Given the description of an element on the screen output the (x, y) to click on. 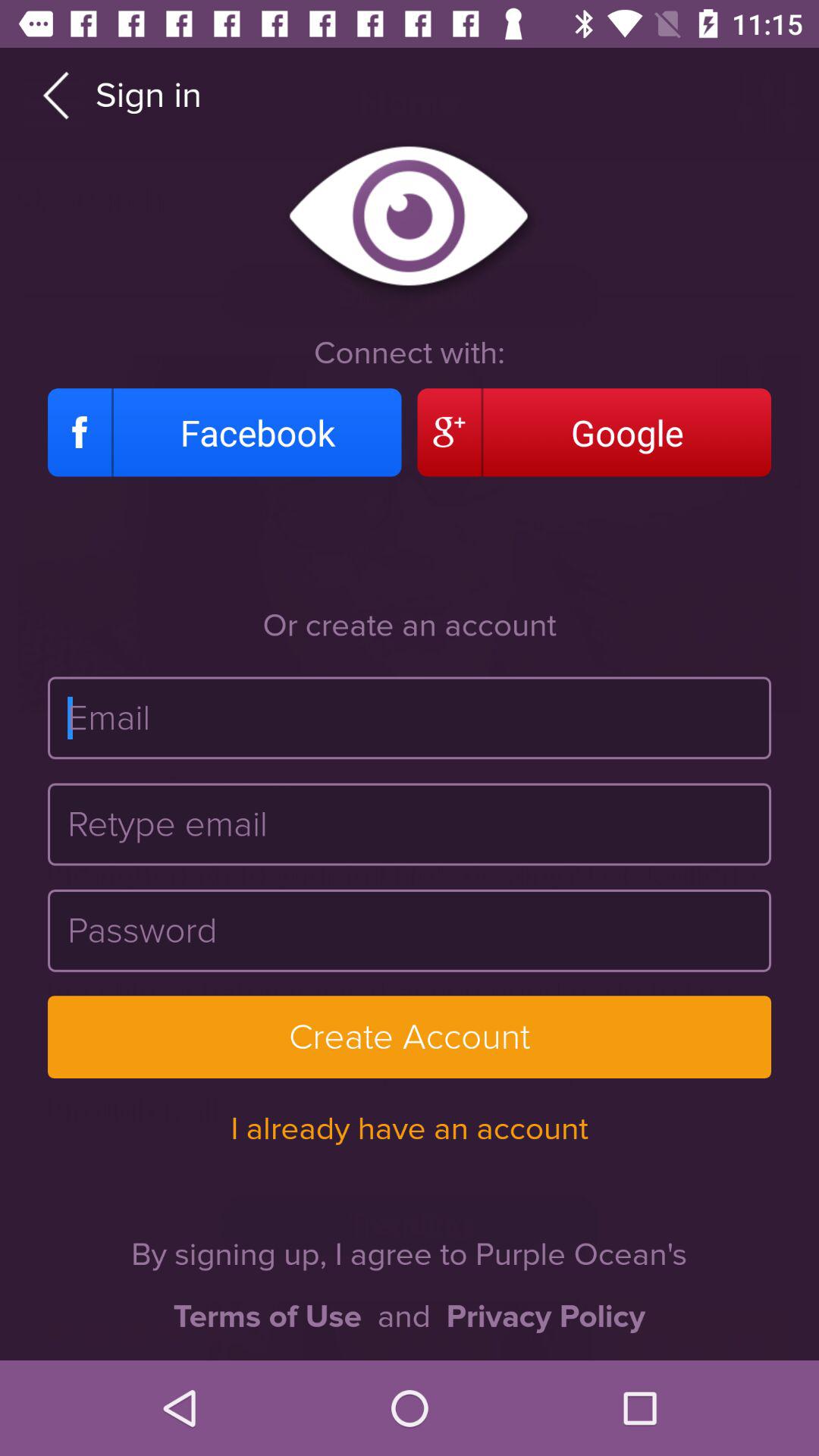
enter the password (409, 930)
